Given the description of an element on the screen output the (x, y) to click on. 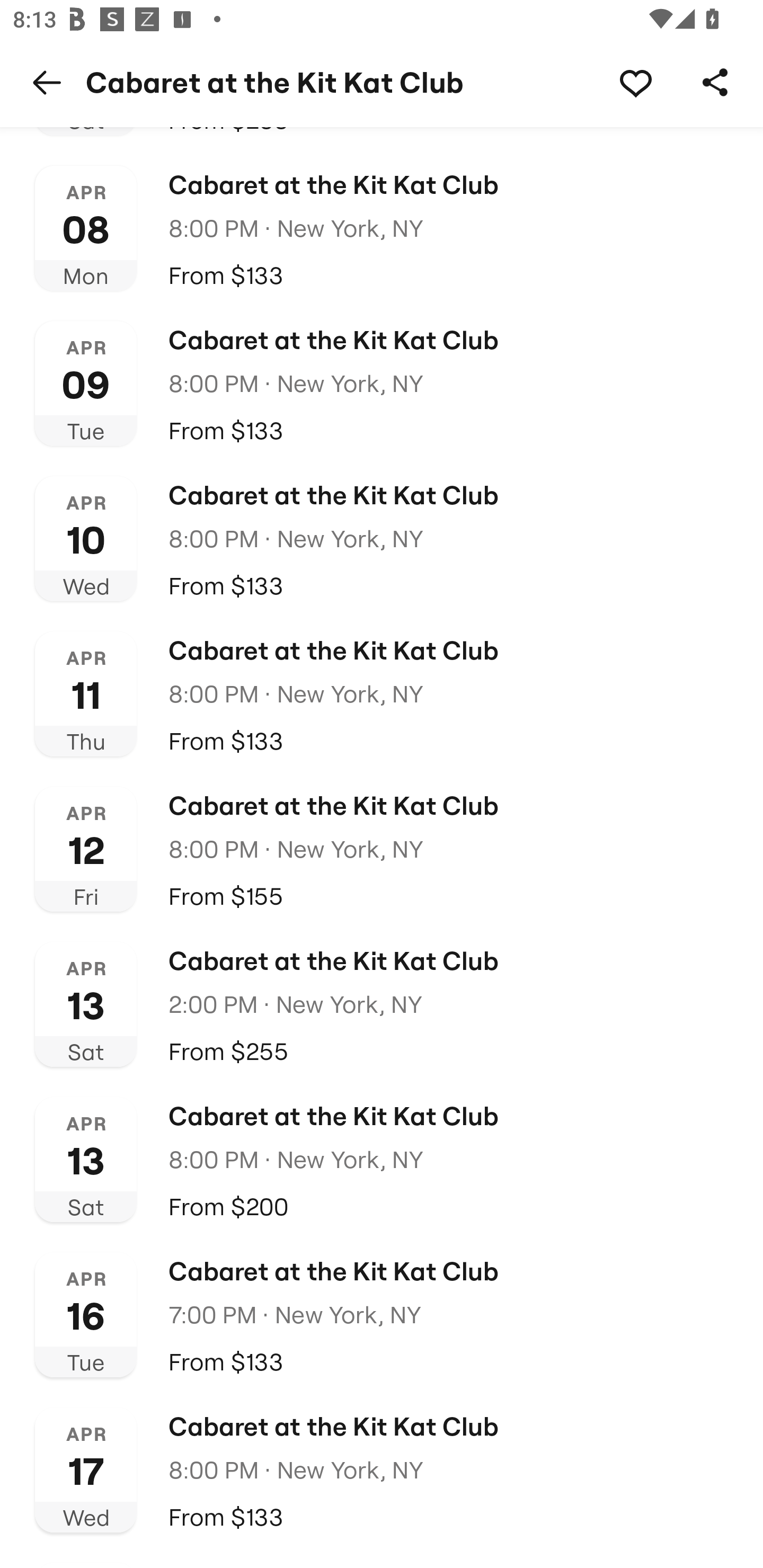
Back (47, 81)
Track this performer (635, 81)
Share this performer (715, 81)
